Given the description of an element on the screen output the (x, y) to click on. 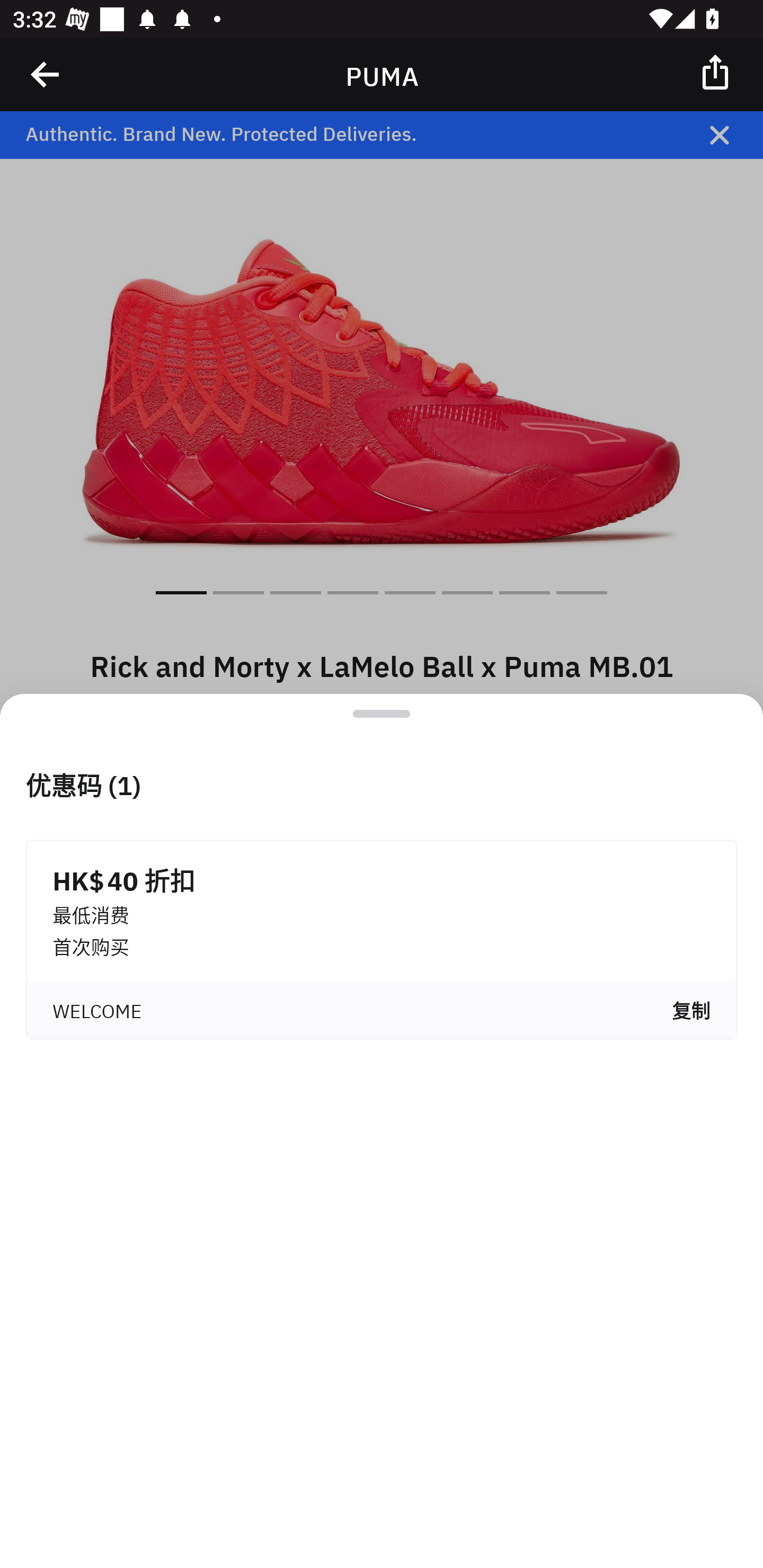
 (46, 74)
 (716, 70)
复制 (691, 1009)
